Given the description of an element on the screen output the (x, y) to click on. 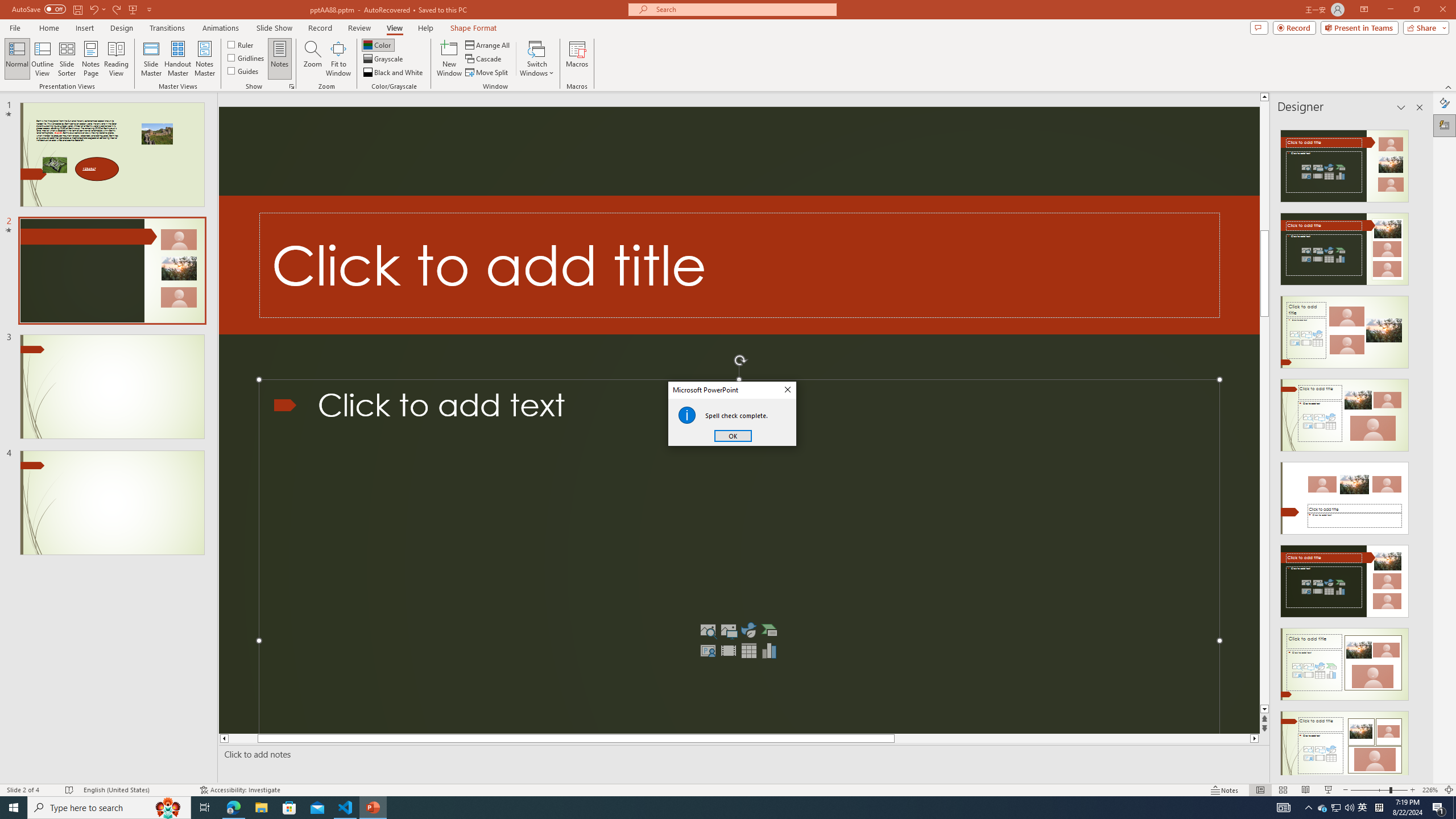
Insert a SmartArt Graphic (769, 629)
Guides (243, 69)
Handout Master (177, 58)
Class: Static (686, 415)
